Given the description of an element on the screen output the (x, y) to click on. 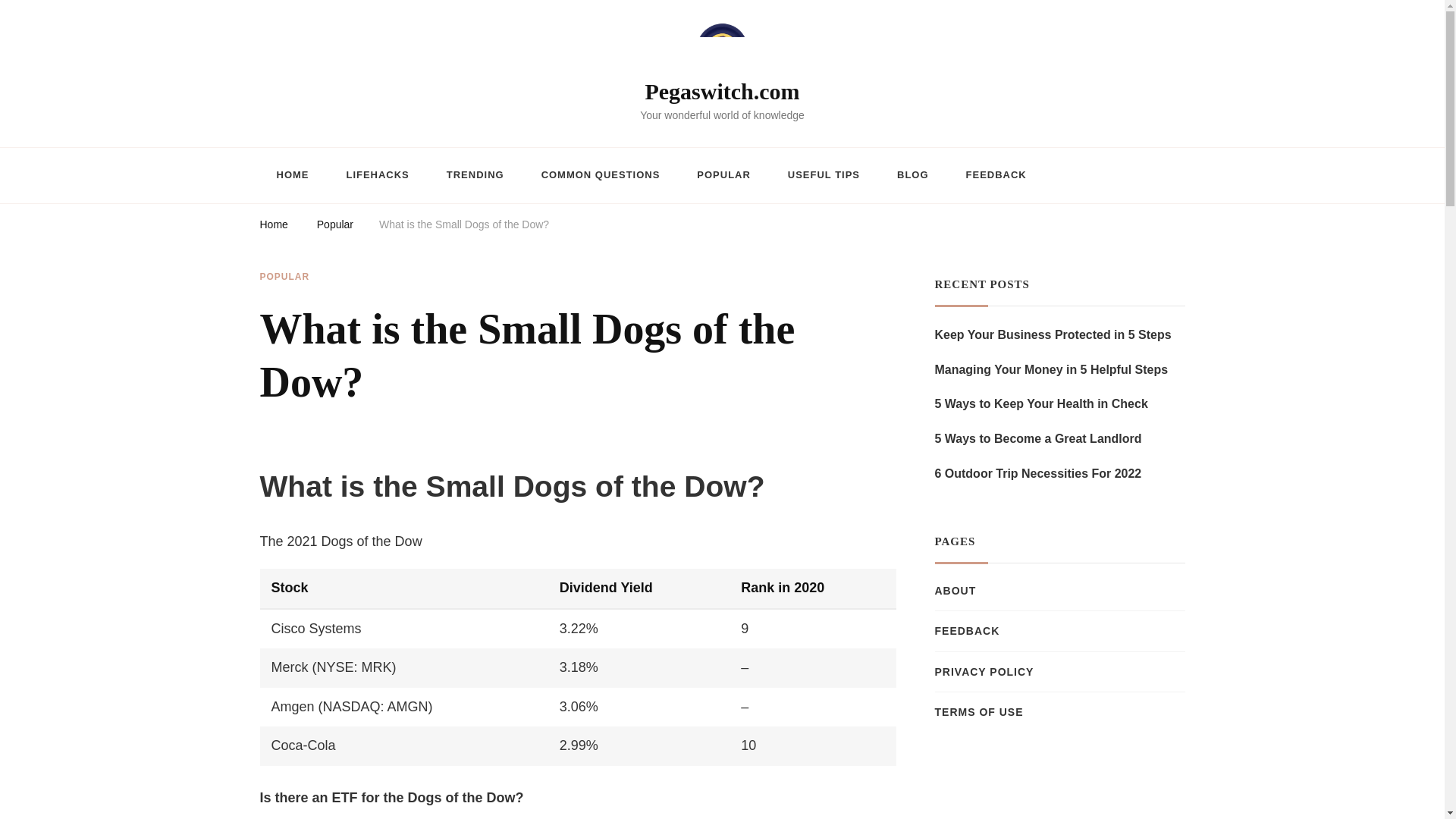
Pegaswitch.com (722, 91)
TRENDING (475, 175)
Managing Your Money in 5 Helpful Steps (1050, 370)
5 Ways to Become a Great Landlord (1037, 438)
Home (272, 226)
POPULAR (723, 175)
What is the Small Dogs of the Dow? (463, 226)
BLOG (912, 175)
Keep Your Business Protected in 5 Steps (1052, 334)
HOME (291, 175)
LIFEHACKS (377, 175)
6 Outdoor Trip Necessities For 2022 (1037, 474)
ABOUT (954, 590)
PRIVACY POLICY (983, 671)
POPULAR (283, 277)
